Given the description of an element on the screen output the (x, y) to click on. 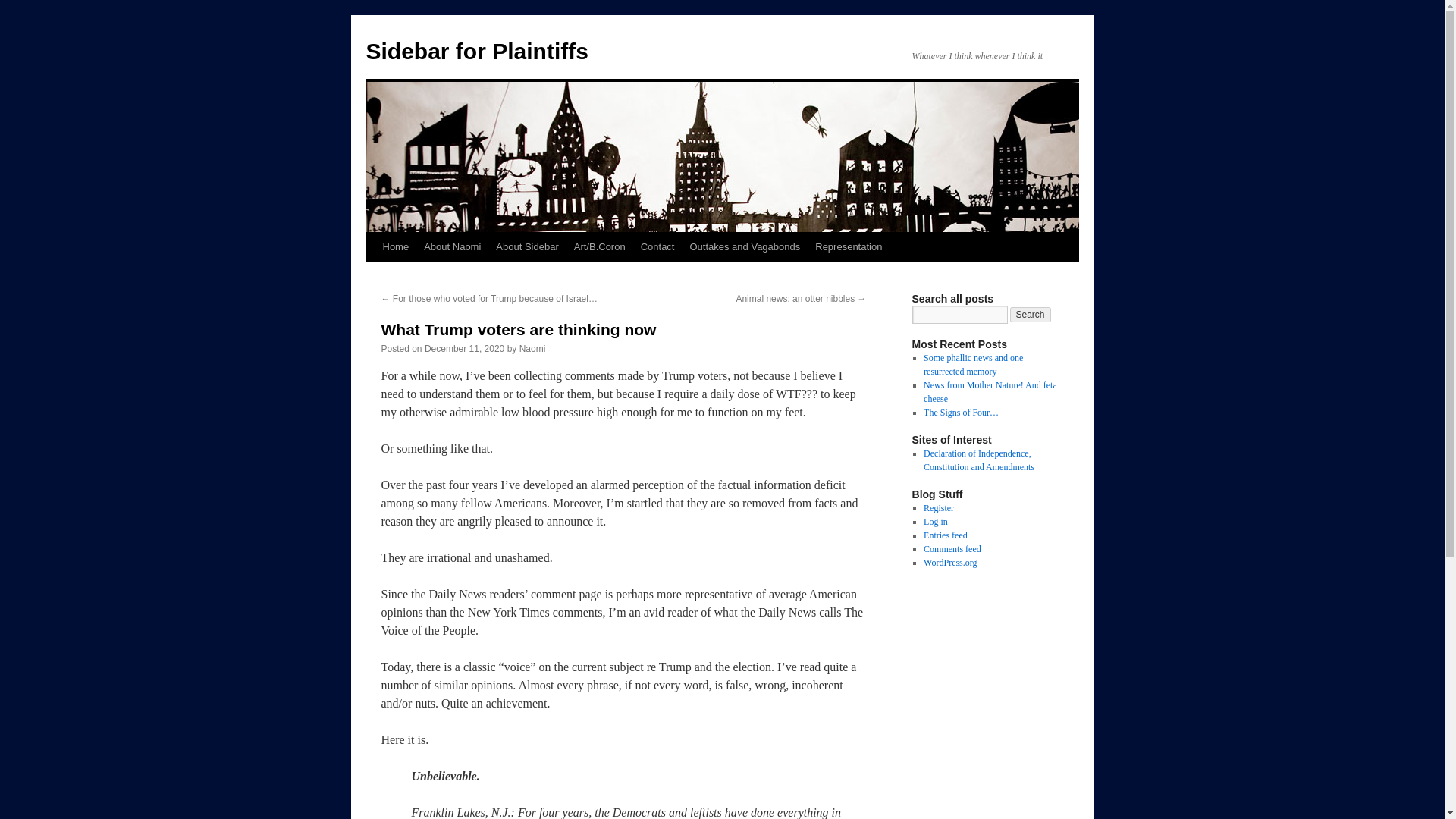
WordPress.org (949, 562)
Register (938, 507)
Representation (848, 246)
4:13 pm (464, 348)
About Sidebar (526, 246)
Log in (935, 521)
News from Mother Nature! And feta cheese (990, 392)
Home (395, 246)
Comments feed (952, 548)
Entries feed (945, 534)
